Given the description of an element on the screen output the (x, y) to click on. 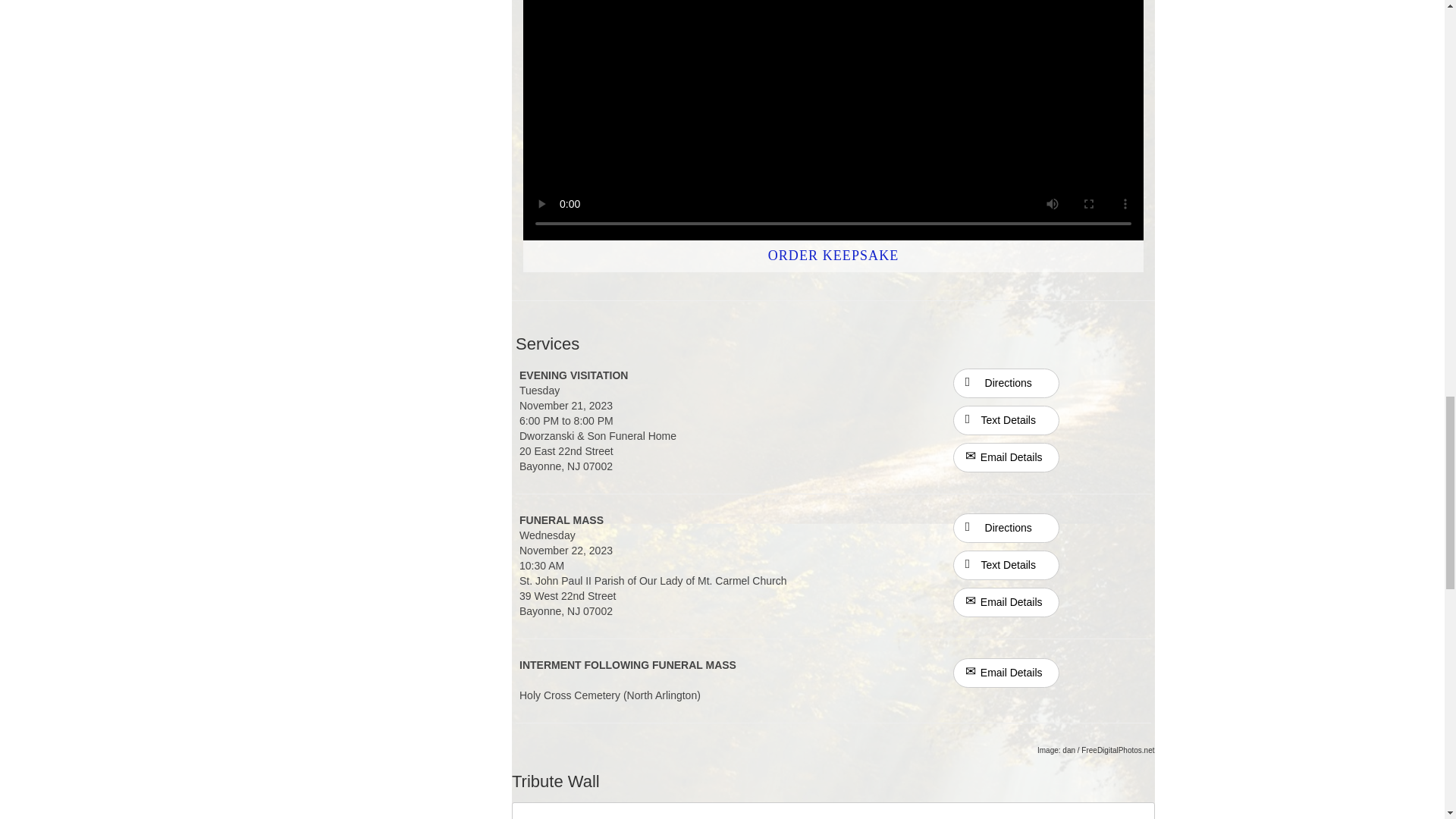
Email Details (1006, 672)
Directions (1006, 526)
Email Details (1006, 457)
Email Details (1006, 602)
Text Details (1006, 419)
Directions (1006, 383)
Directions (1006, 527)
Text Details (1006, 564)
Directions (1006, 382)
